Given the description of an element on the screen output the (x, y) to click on. 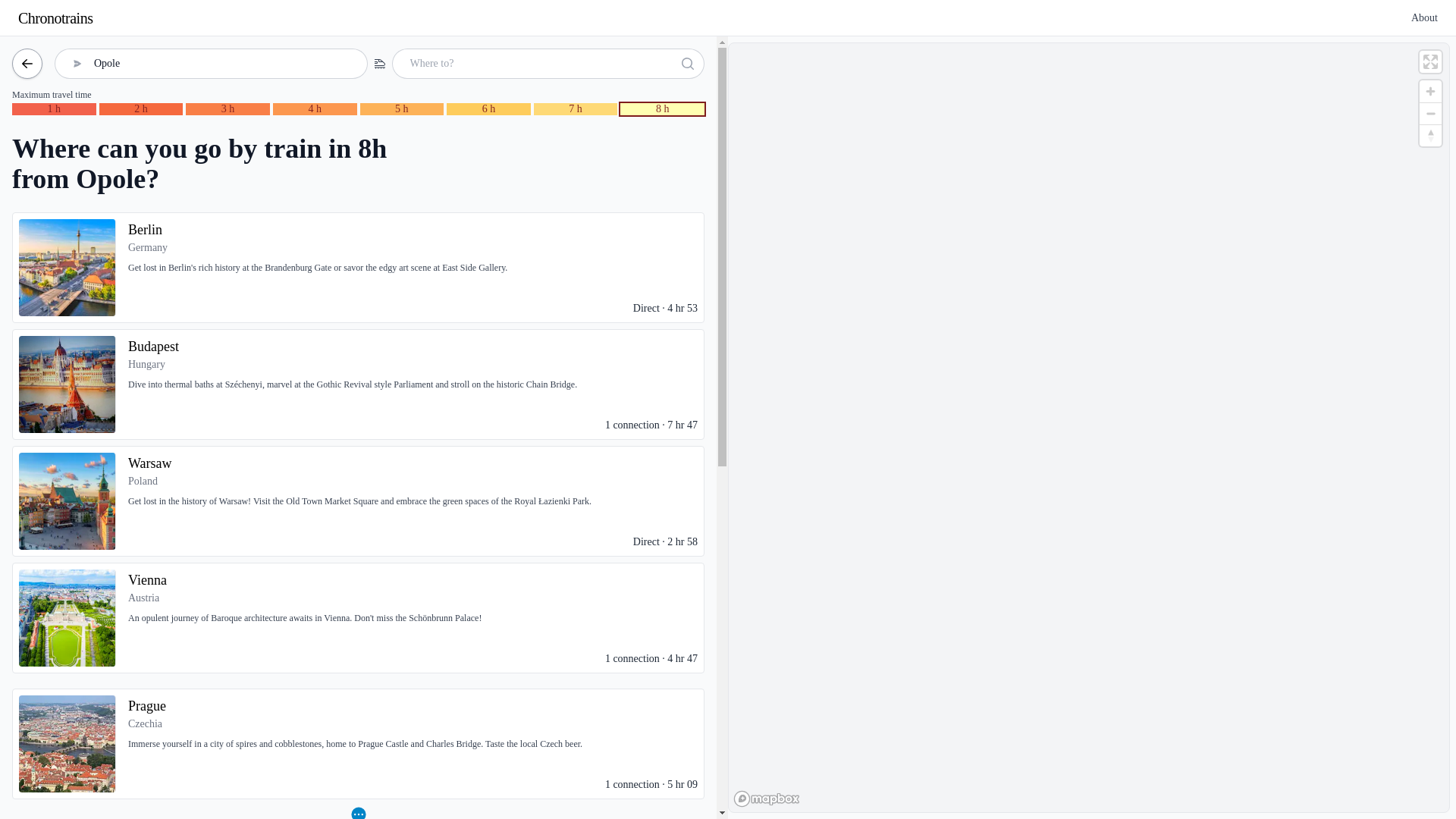
Available destinations in 3h (227, 109)
Enter fullscreen (1430, 61)
Opole (211, 63)
4 h (314, 109)
6 h (488, 109)
back (26, 63)
8 h (662, 109)
Zoom in (1430, 91)
1 h (53, 109)
Available destinations in 1h (53, 109)
Chronotrains (55, 17)
2 h (141, 109)
Available destinations in 6h (488, 109)
3 h (227, 109)
Zoom out (1430, 113)
